Given the description of an element on the screen output the (x, y) to click on. 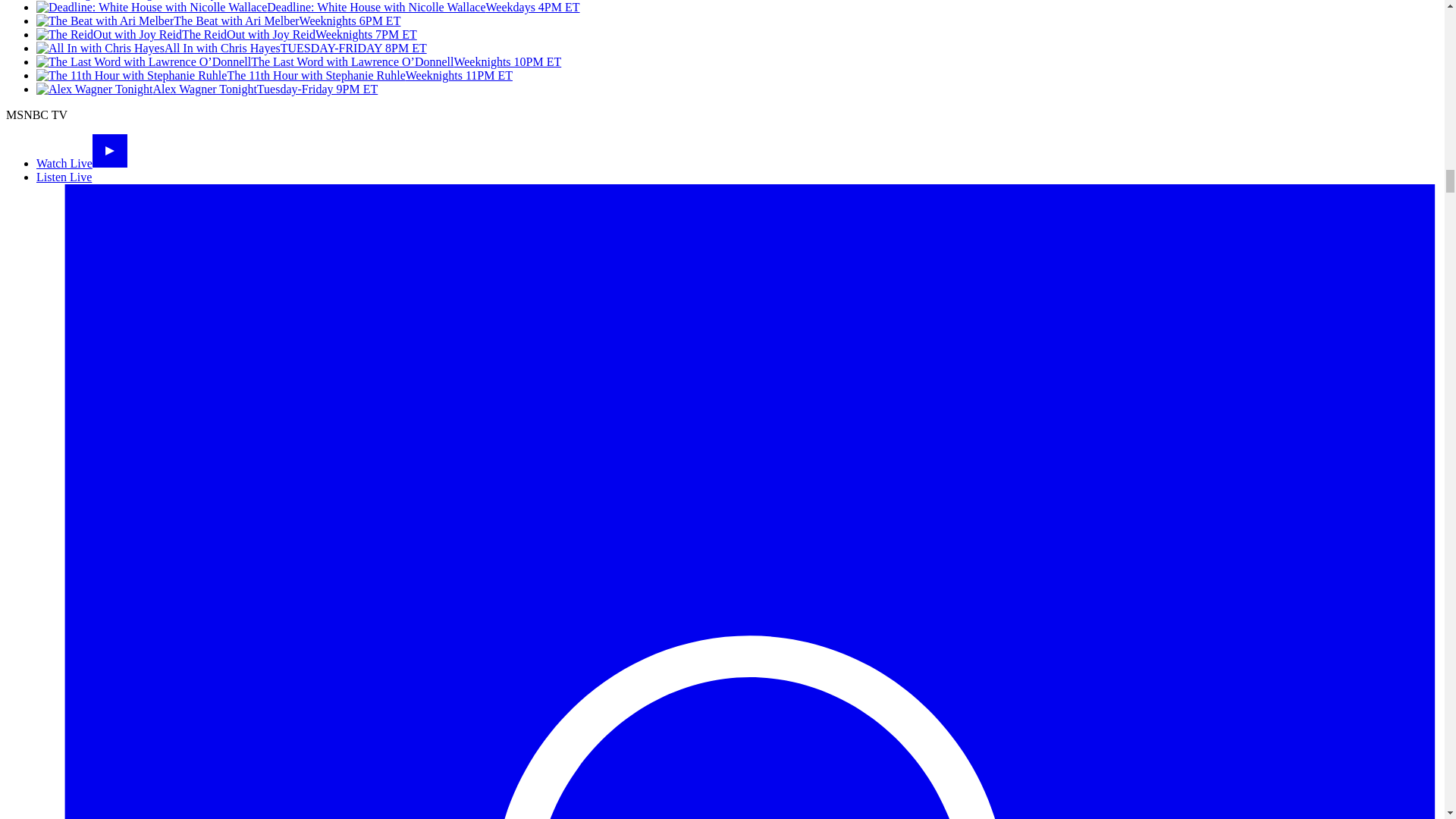
Watch Live (82, 163)
The 11th Hour with Stephanie RuhleWeeknights 11PM ET (274, 74)
Alex Wagner TonightTuesday-Friday 9PM ET (206, 88)
The ReidOut with Joy ReidWeeknights 7PM ET (226, 33)
The Beat with Ari MelberWeeknights 6PM ET (218, 20)
Deadline: White House with Nicolle WallaceWeekdays 4PM ET (307, 6)
All In with Chris HayesTUESDAY-FRIDAY 8PM ET (231, 47)
